Given the description of an element on the screen output the (x, y) to click on. 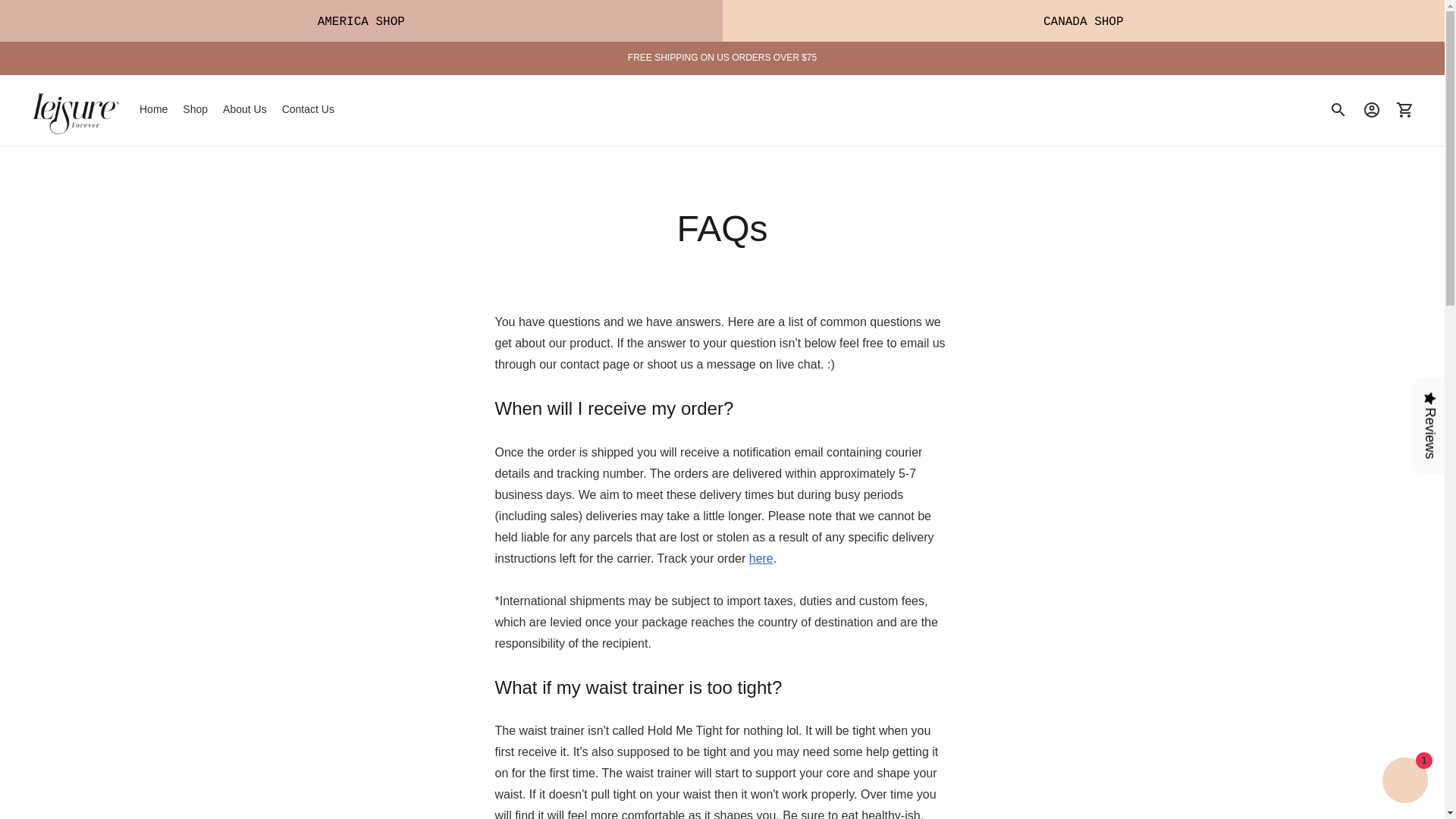
AMERICA SHOP (361, 20)
About Us (244, 109)
Leisure Forever tracking (761, 558)
Contact Us (308, 109)
Cart (1405, 109)
Shopify online store chat (1404, 781)
Search (1338, 109)
Account (1372, 109)
